Given the description of an element on the screen output the (x, y) to click on. 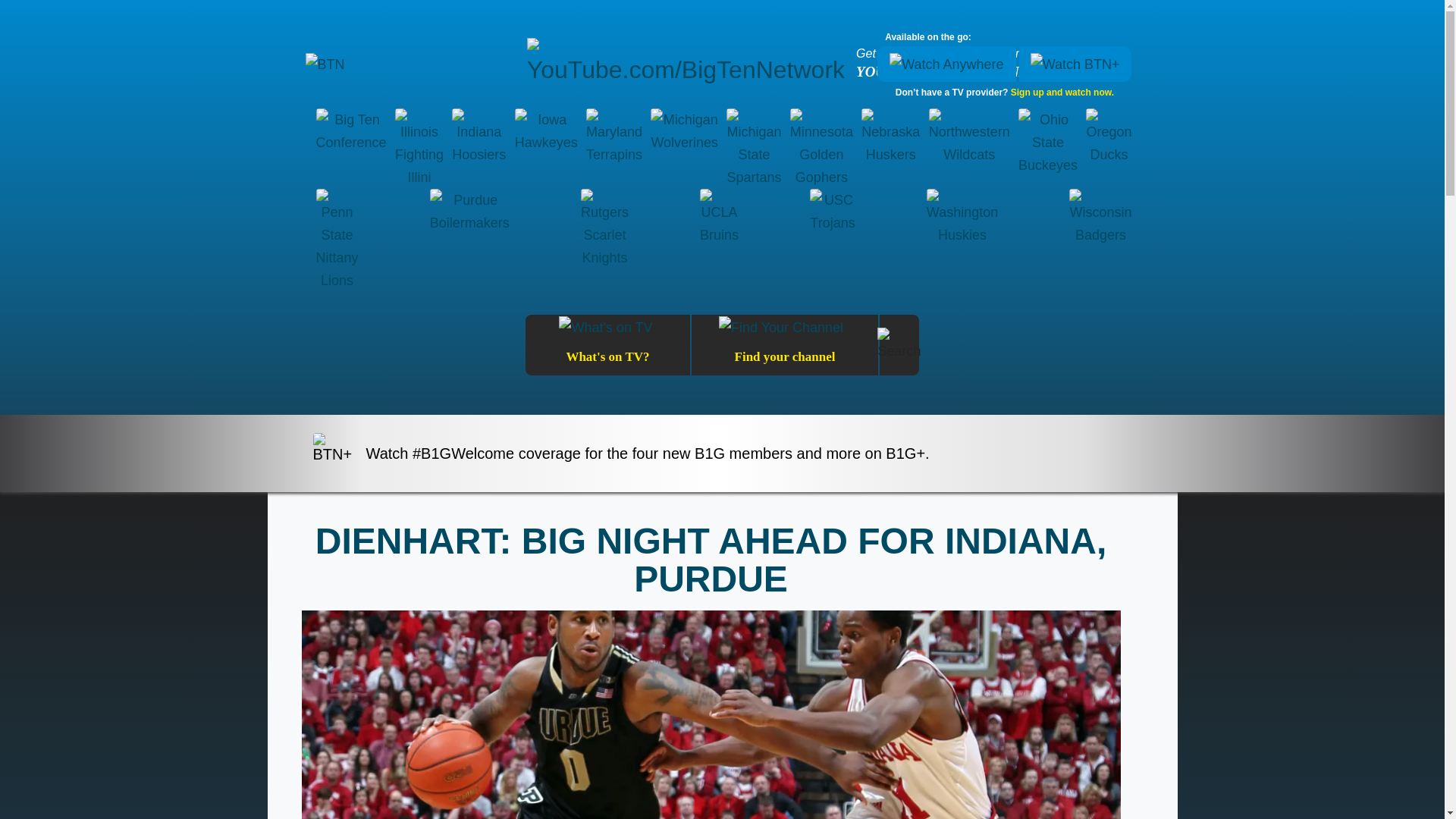
Big Ten Conference (350, 148)
Northwestern Wildcats (969, 148)
Michigan Wolverines (683, 148)
